Given the description of an element on the screen output the (x, y) to click on. 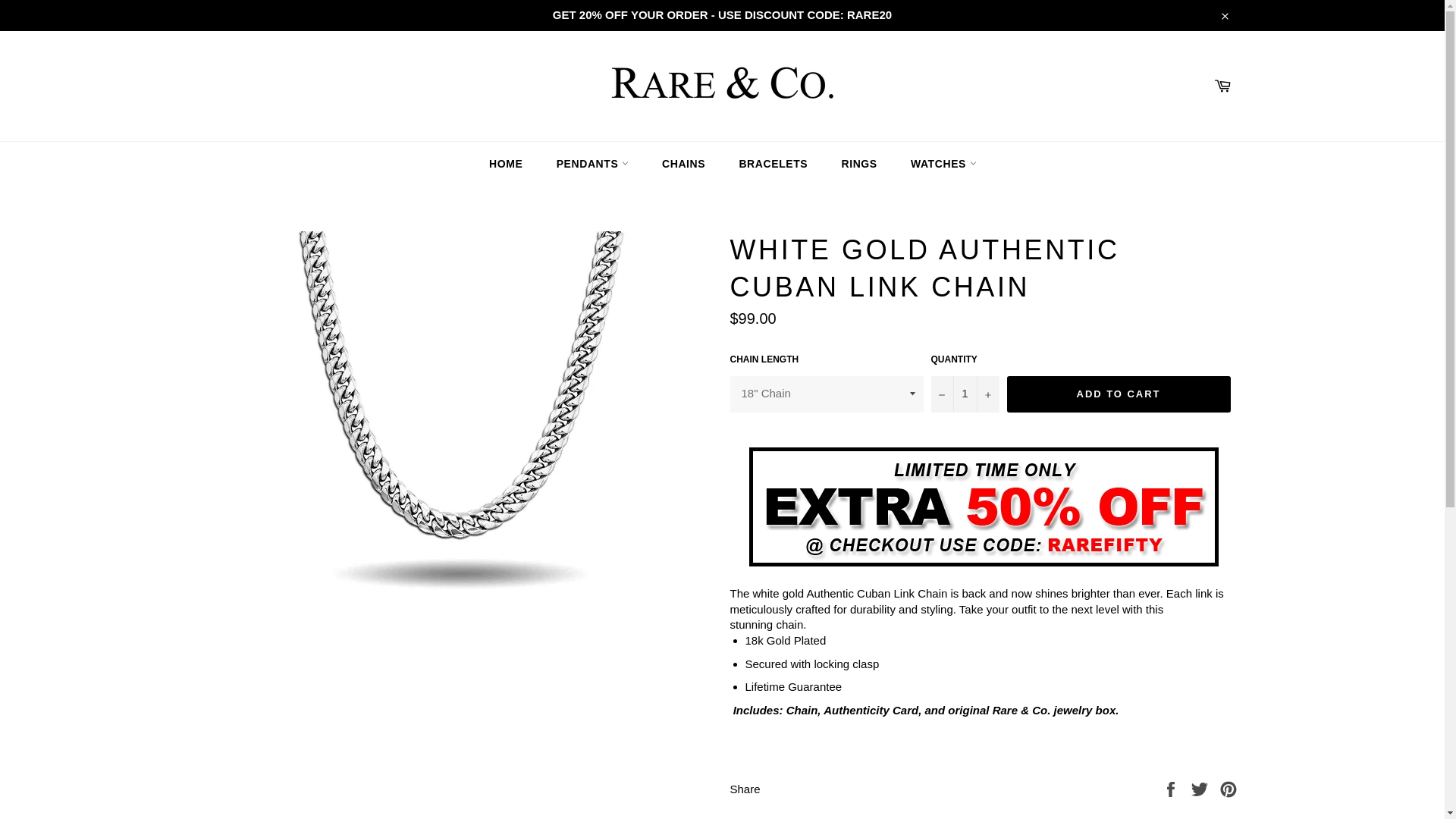
PENDANTS (592, 163)
Cart (1221, 85)
Tweet on Twitter (1201, 788)
1 (964, 393)
Close (1222, 15)
Pin on Pinterest (1228, 788)
Share on Facebook (1171, 788)
HOME (505, 163)
